Given the description of an element on the screen output the (x, y) to click on. 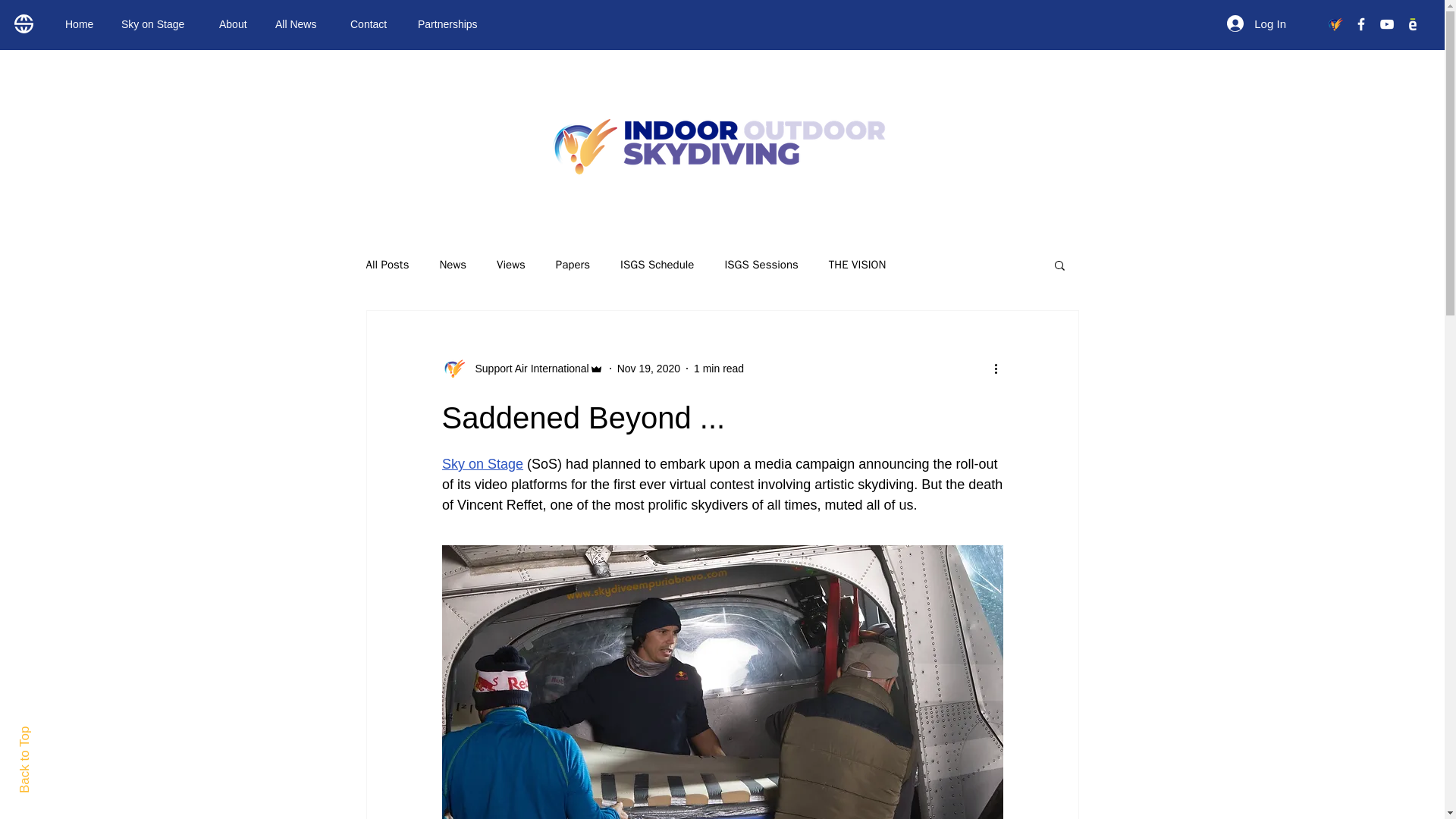
1 min read (719, 368)
All Posts (387, 264)
Views (510, 264)
ISGS Schedule (657, 264)
Contact (372, 24)
Nov 19, 2020 (648, 368)
ISGS Sessions (760, 264)
Partnerships (454, 24)
Support Air International (521, 368)
Log In (1256, 23)
